Given the description of an element on the screen output the (x, y) to click on. 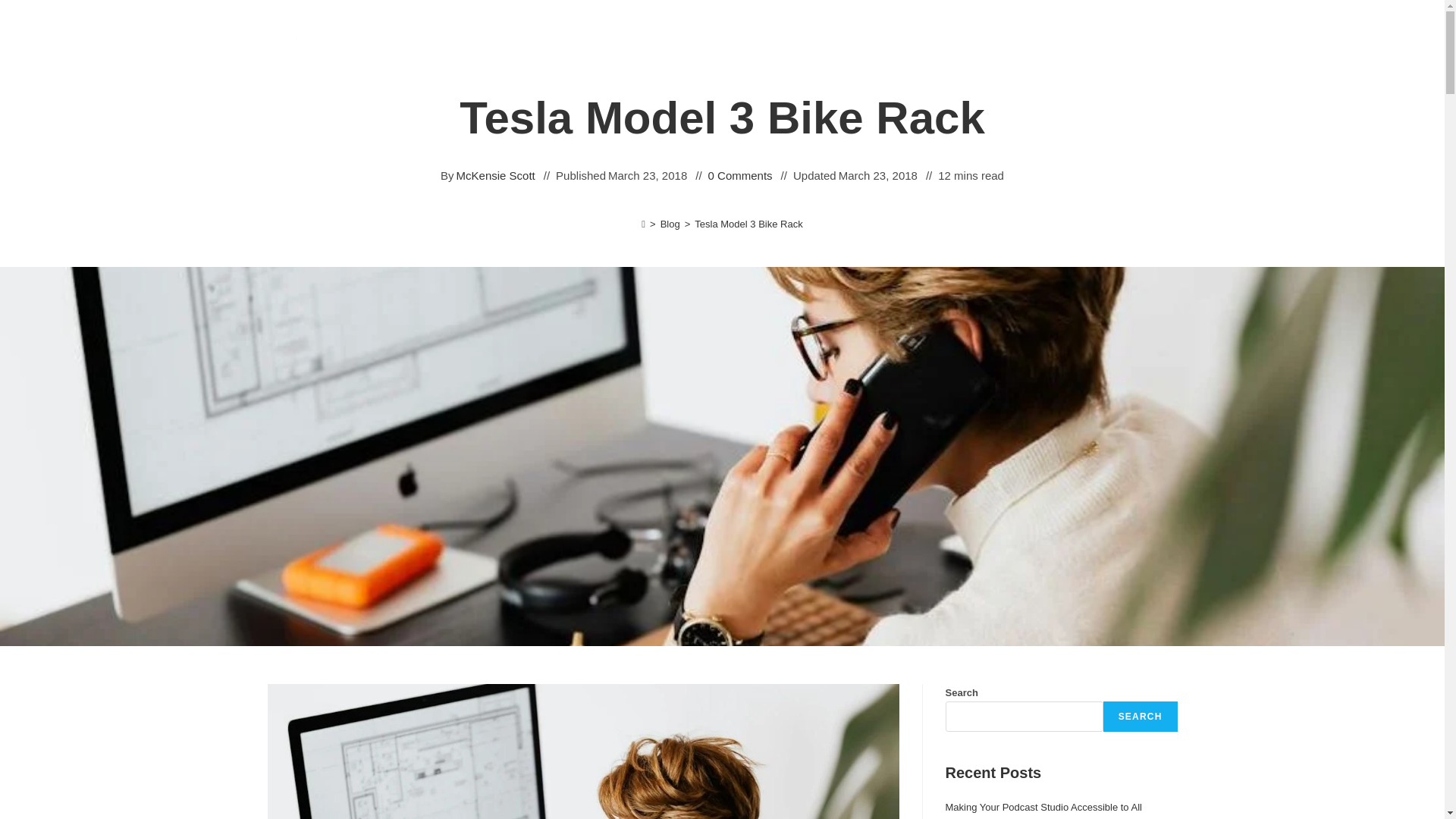
SEARCH (1140, 716)
Making Your Podcast Studio Accessible to All (1042, 807)
Blog (670, 224)
0 Comments (740, 175)
McKensie Scott (496, 175)
Tesla Model 3 Bike Rack (748, 224)
